Given the description of an element on the screen output the (x, y) to click on. 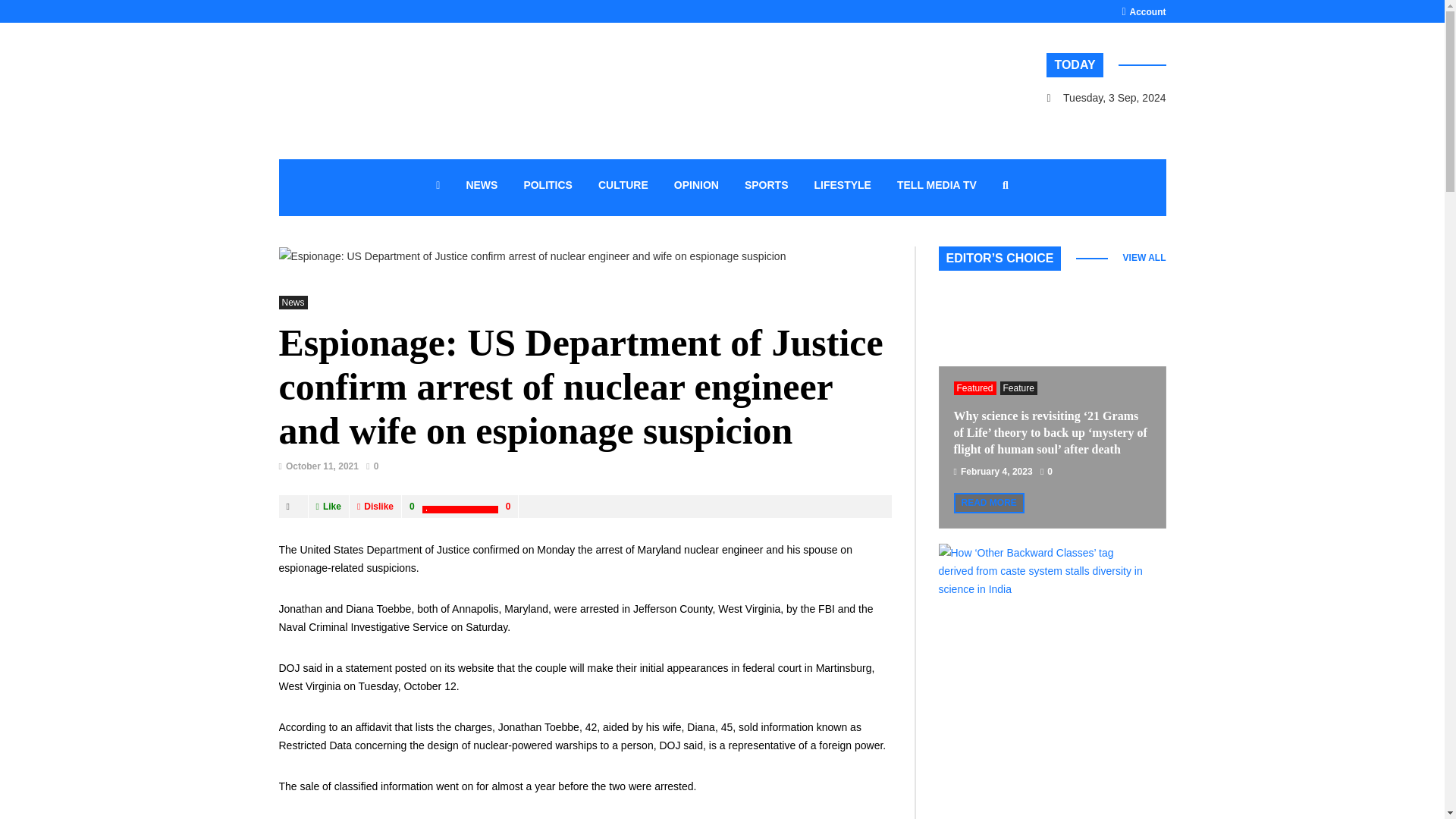
Search (701, 181)
Opinion (696, 187)
POLITICS (548, 187)
Account (1142, 11)
Sports (767, 187)
News (481, 187)
Tell Media TV (936, 187)
News (293, 302)
Lifestyle (841, 187)
Politics (548, 187)
